Given the description of an element on the screen output the (x, y) to click on. 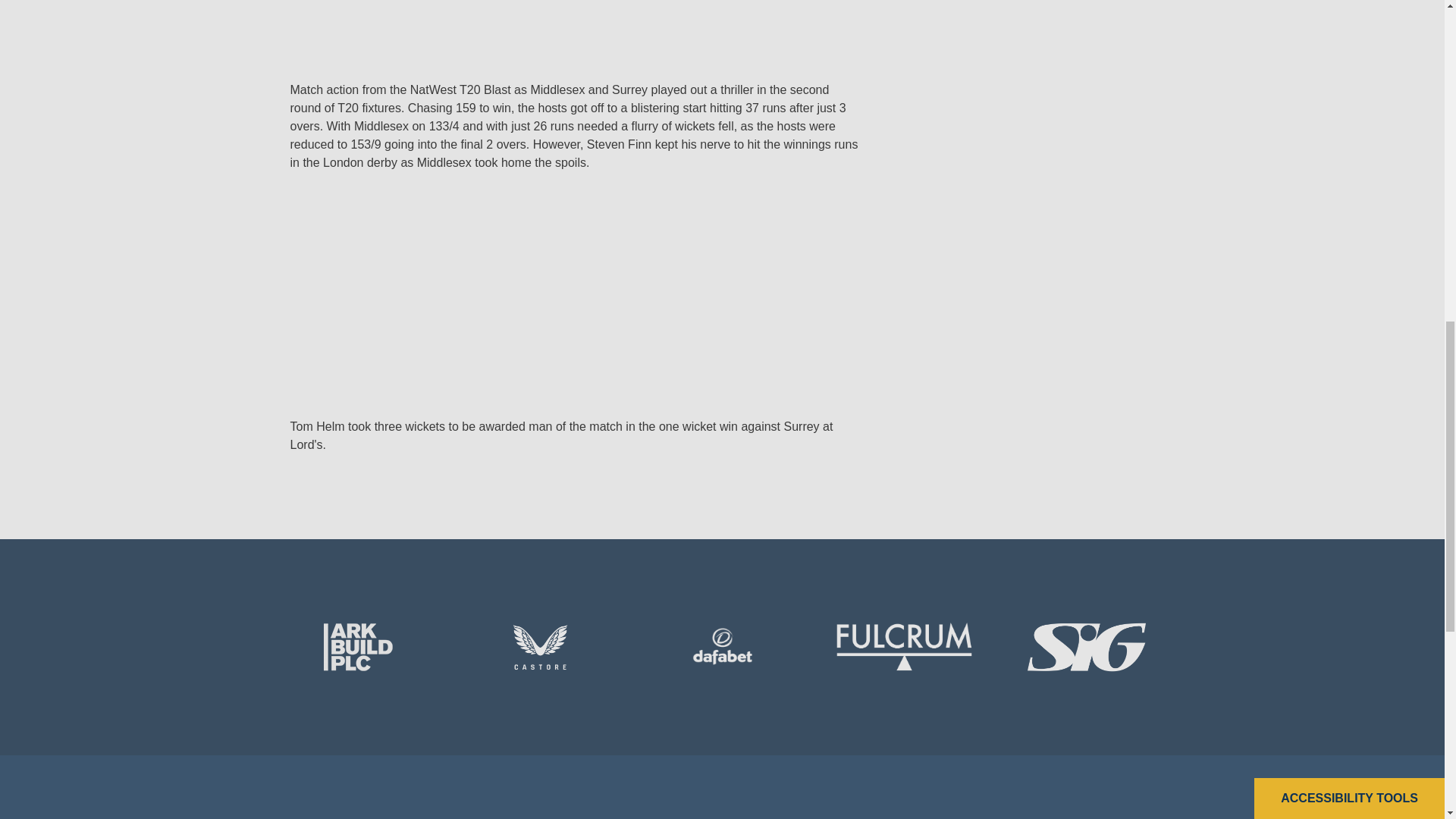
audioBoom player (555, 294)
